Given the description of an element on the screen output the (x, y) to click on. 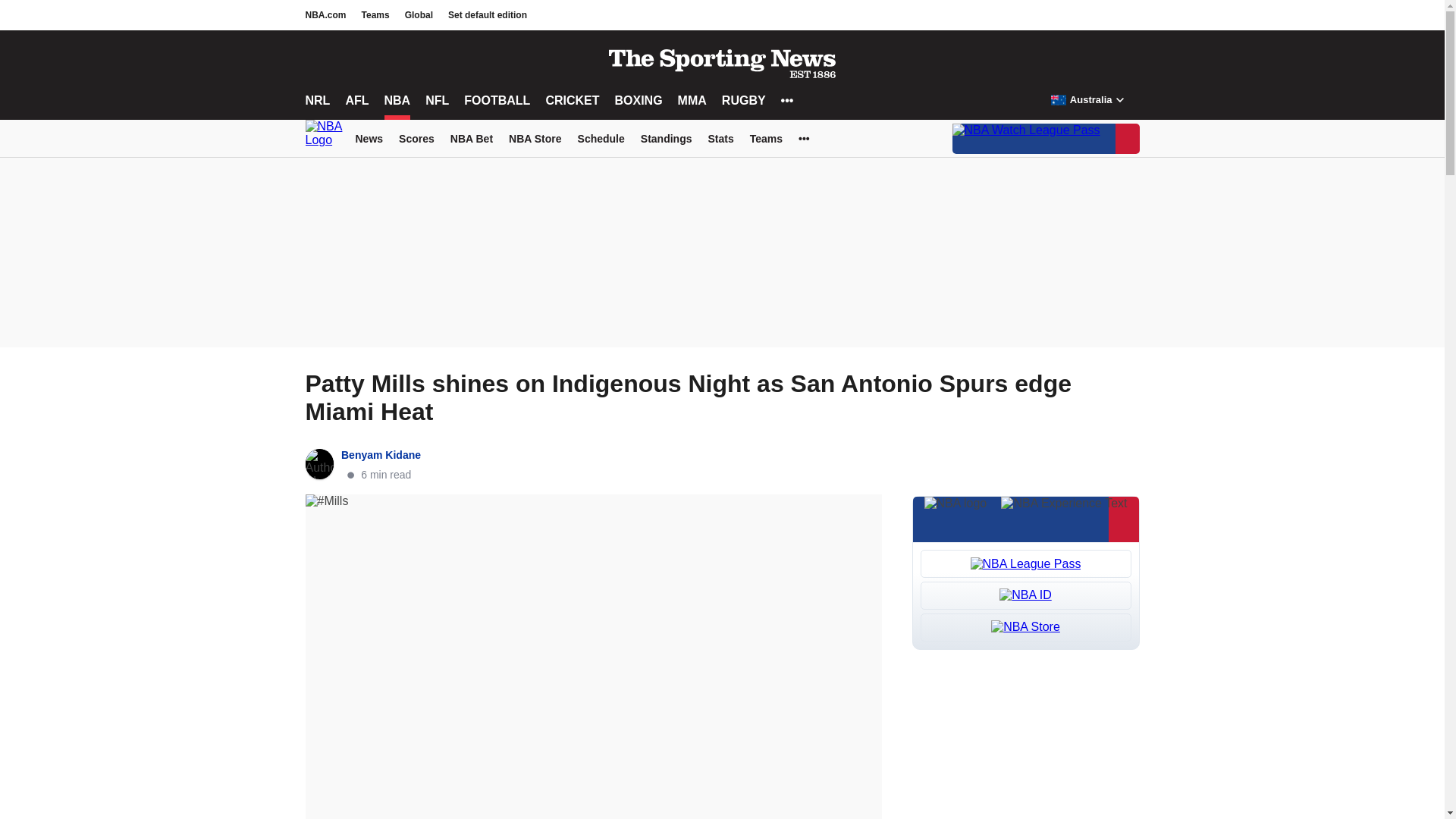
Teams (375, 14)
Teams (375, 14)
Global (418, 14)
